Given the description of an element on the screen output the (x, y) to click on. 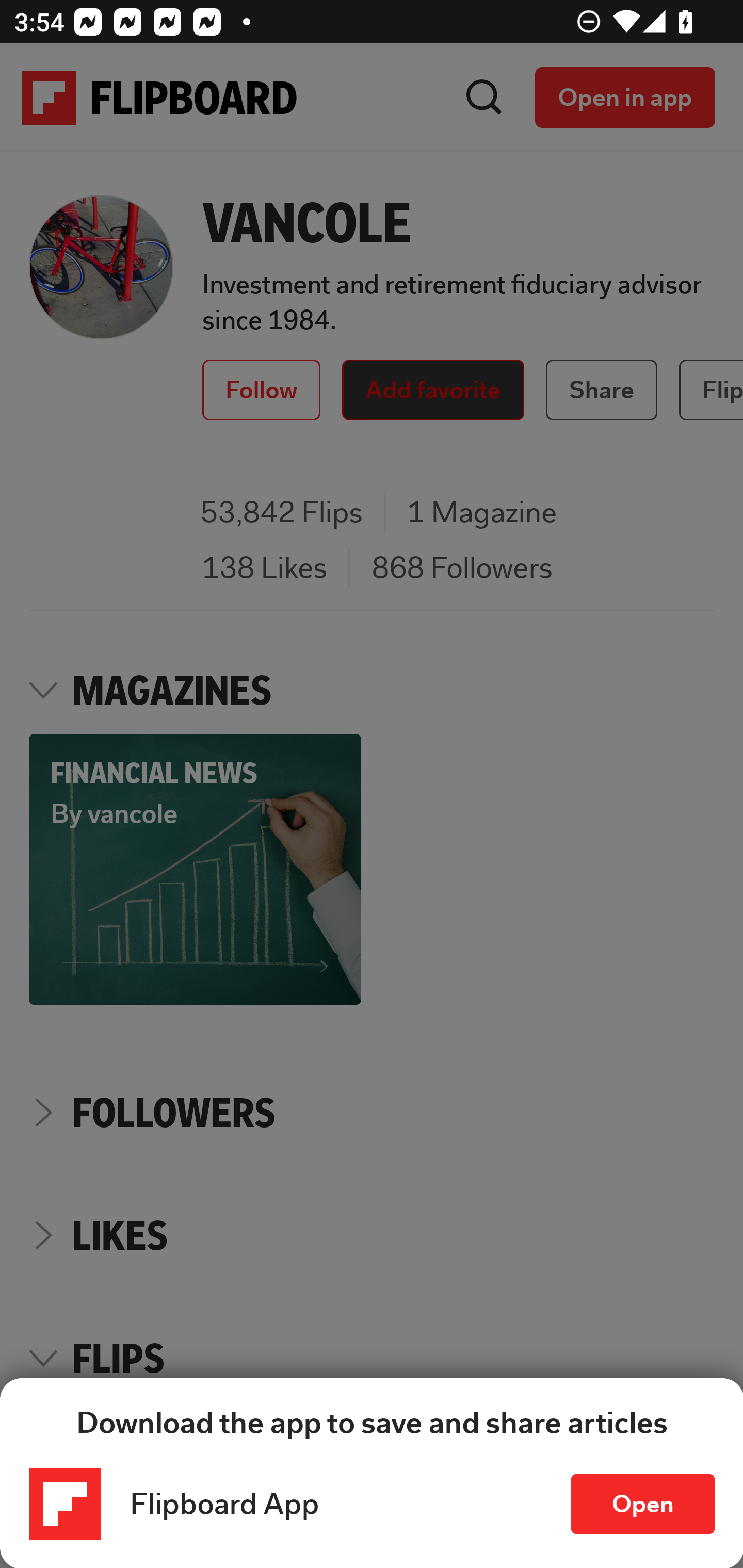
Open (643, 1504)
